Given the description of an element on the screen output the (x, y) to click on. 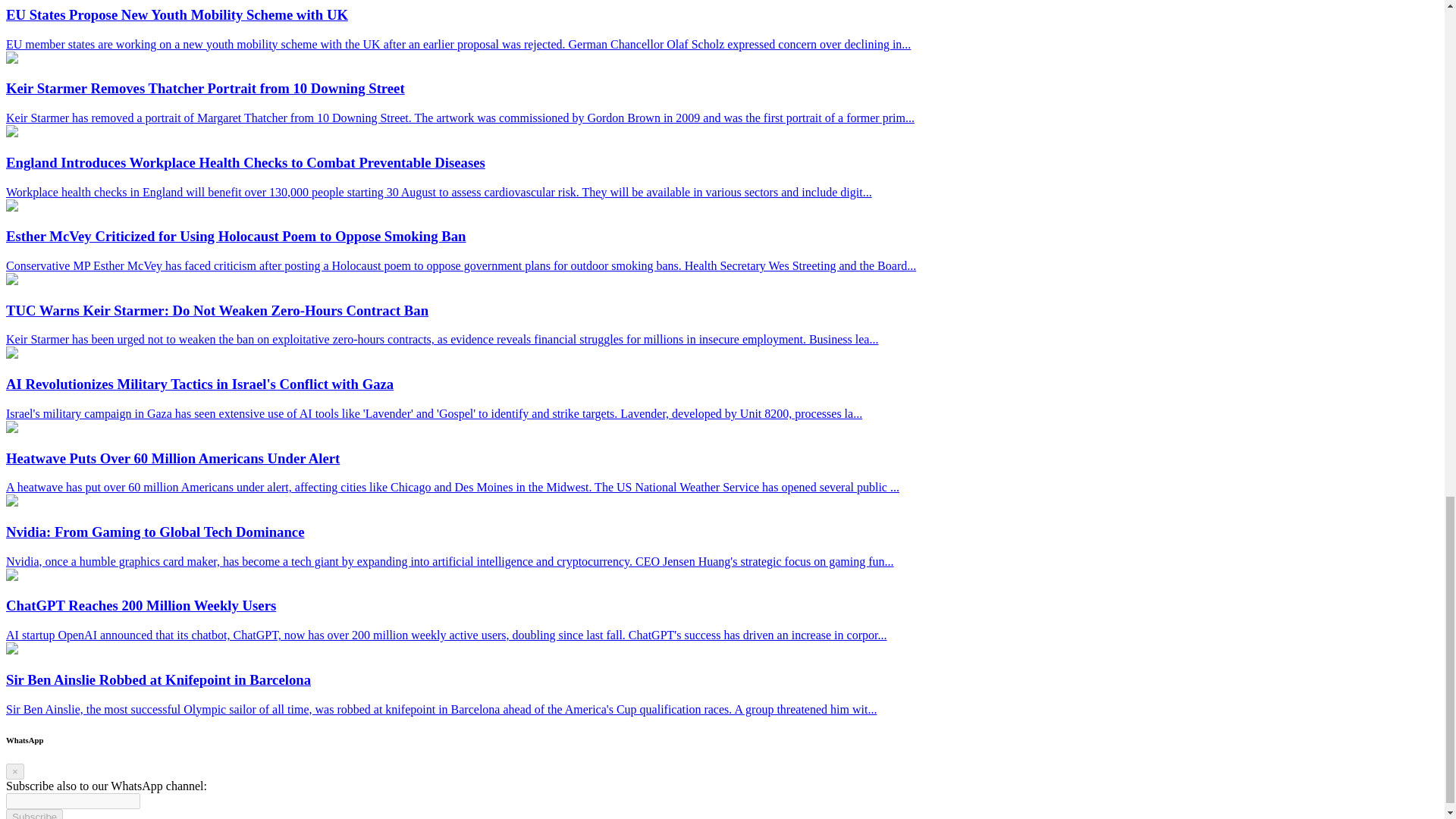
Heatwave Puts Over 60 Million Americans Under Alert (11, 428)
Nvidia: From Gaming to Global Tech Dominance (11, 502)
